Given the description of an element on the screen output the (x, y) to click on. 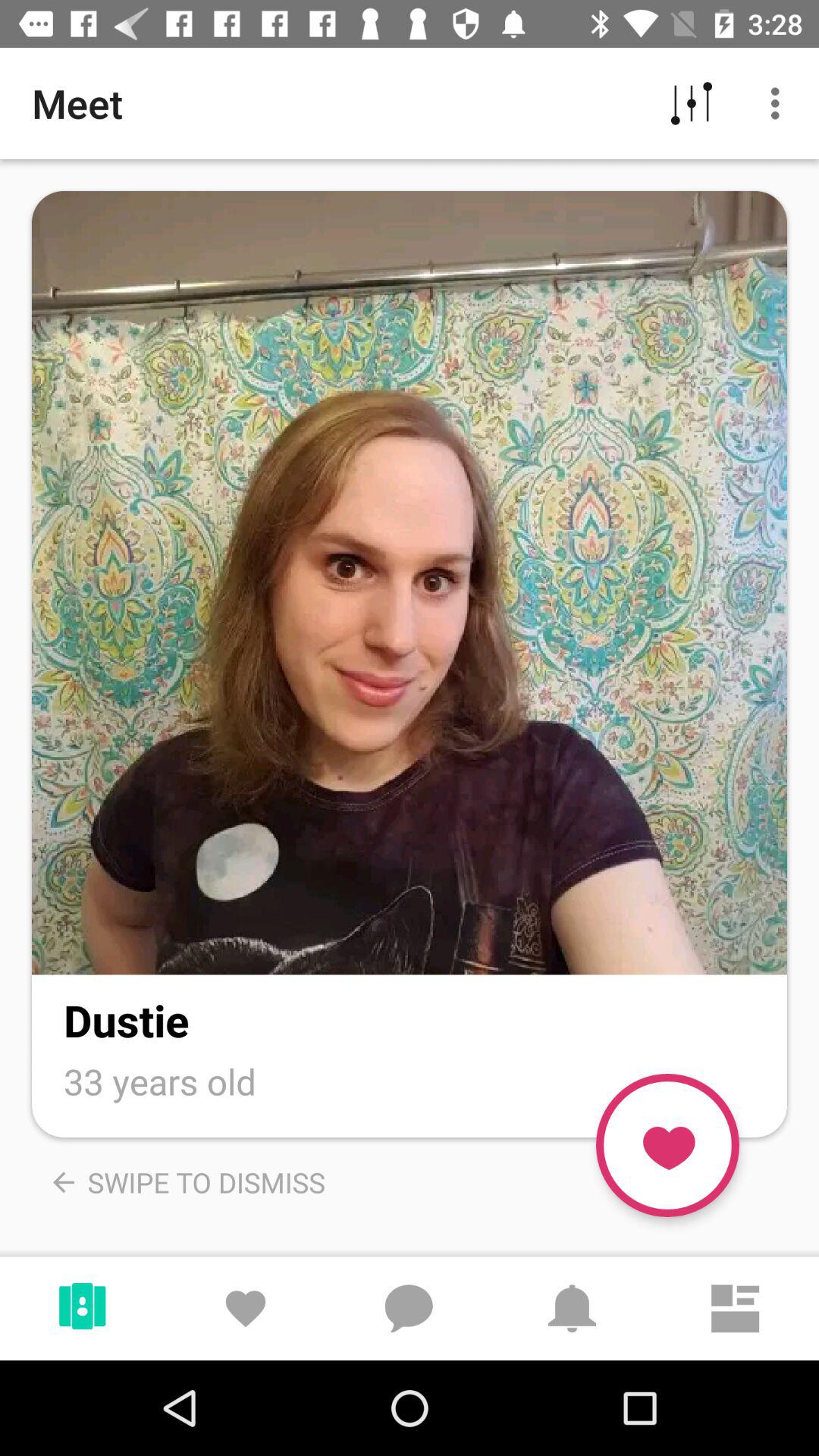
turn on dustie item (126, 1019)
